Given the description of an element on the screen output the (x, y) to click on. 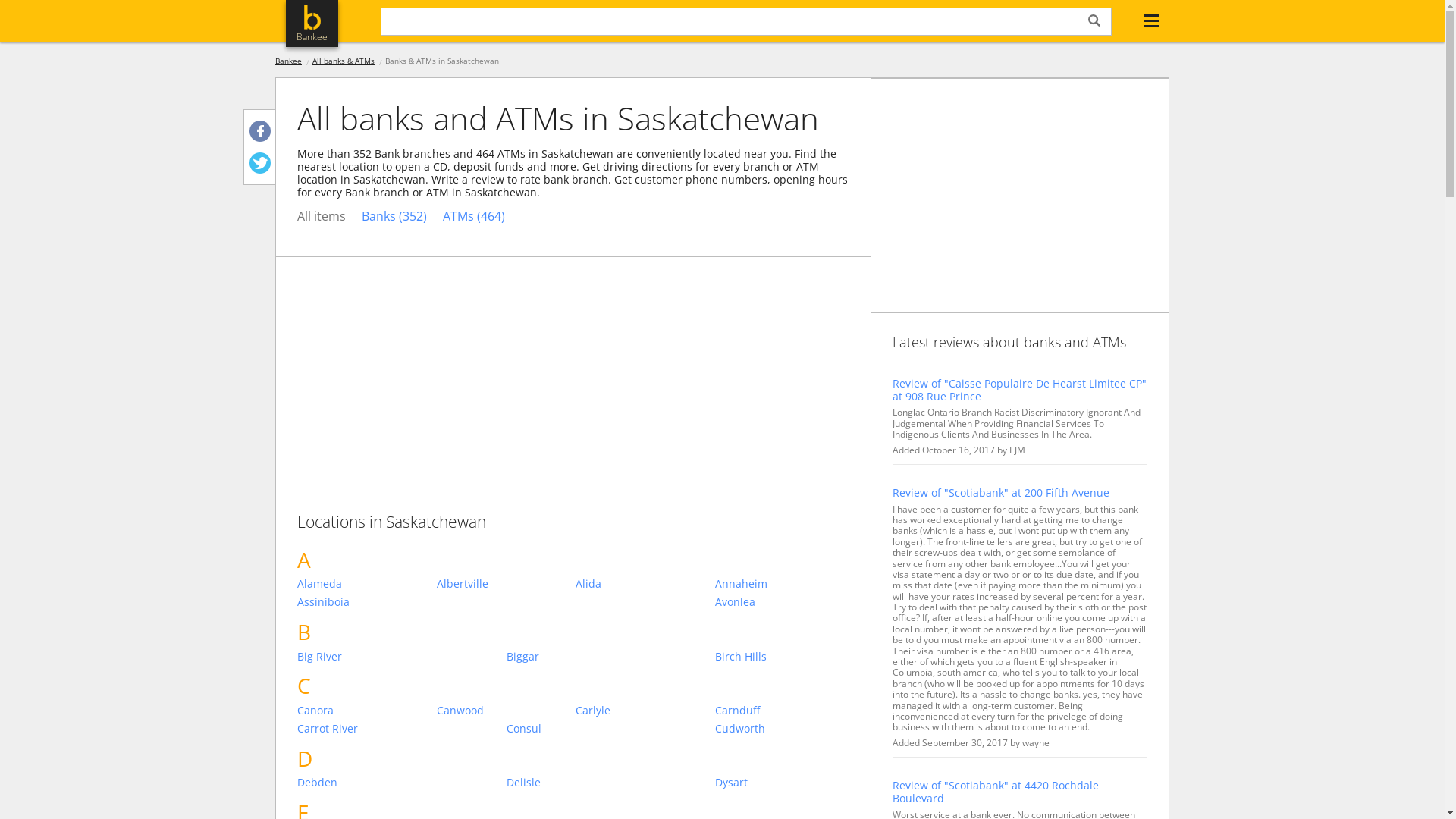
Albertville Element type: text (503, 583)
Birch Hills Element type: text (782, 656)
Canora Element type: text (364, 710)
Canwood Element type: text (503, 710)
Review of "Scotiabank" at 200 Fifth Avenue Element type: text (1019, 492)
ATMs (464) Element type: text (473, 216)
Carlyle Element type: text (642, 710)
Consul Element type: text (573, 728)
Debden Element type: text (364, 782)
Biggar Element type: text (573, 656)
Cudworth Element type: text (782, 728)
Alameda Element type: text (364, 583)
Alida Element type: text (642, 583)
Carrot River Element type: text (364, 728)
Assiniboia Element type: text (364, 602)
Bankee Element type: text (311, 23)
Review of "Scotiabank" at 4420 Rochdale Boulevard Element type: text (1019, 792)
All items Element type: text (321, 216)
Banks (352) Element type: text (393, 216)
All banks & ATMs Element type: text (343, 60)
Carnduff Element type: text (782, 710)
Annaheim Element type: text (782, 583)
Dysart Element type: text (782, 782)
Bankee Element type: text (288, 60)
Delisle Element type: text (573, 782)
Avonlea Element type: text (782, 602)
Big River Element type: text (364, 656)
